Given the description of an element on the screen output the (x, y) to click on. 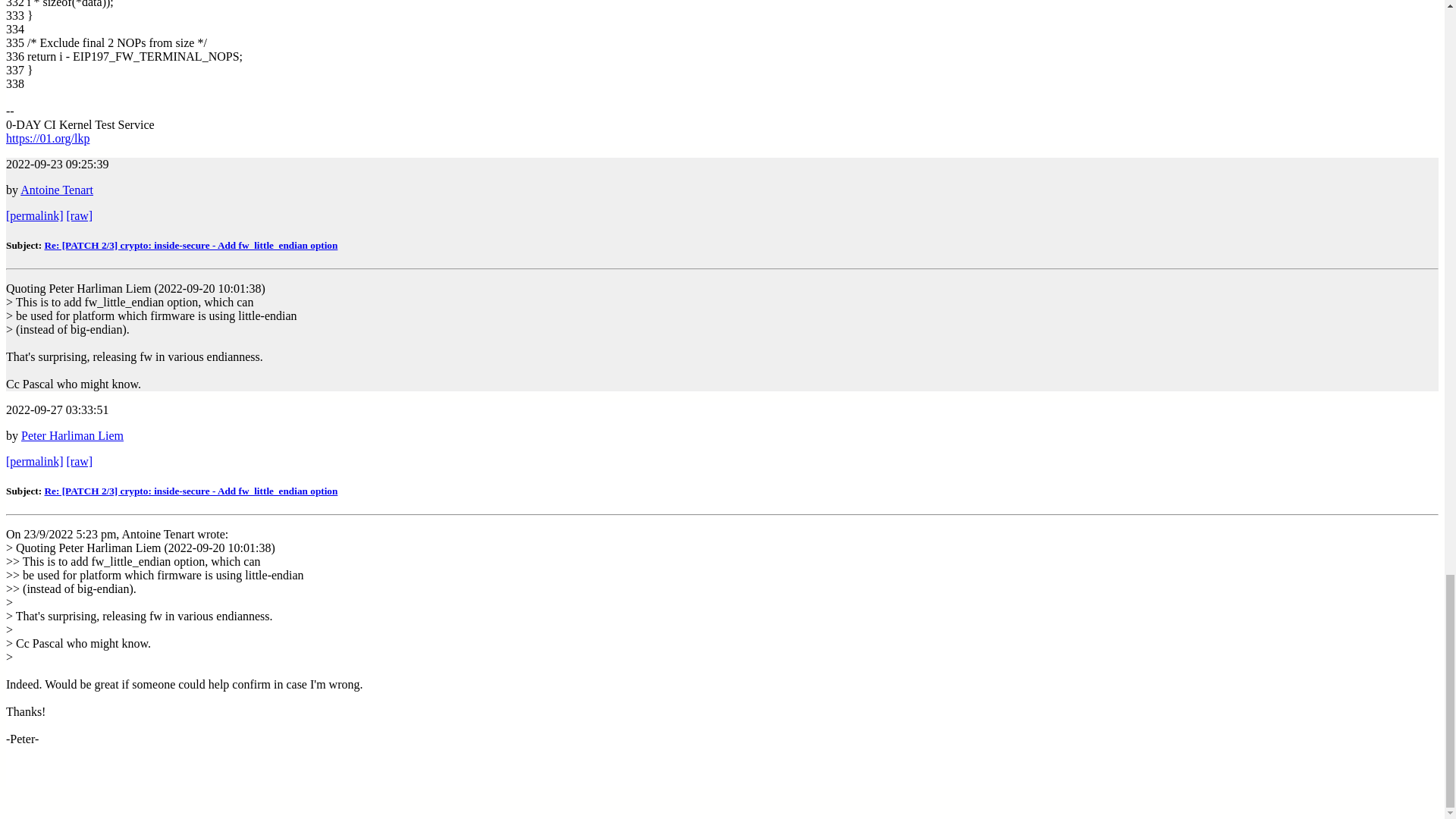
Peter Harliman Liem Element type: text (90, 29)
[permalink] Element type: text (34, 202)
[reply hierarchy] Element type: text (48, 13)
kernel test robot Element type: text (172, 29)
kernel test robot Element type: text (219, 13)
LinuxLists Element type: text (32, 43)
About Element type: text (51, 97)
linux-crypto Element type: text (66, 69)
Peter Harliman Liem Element type: text (369, 13)
Peter Harliman Liem Element type: text (322, 29)
Antoine Tenart Element type: text (242, 29)
<pliem@maxlinear.com> Element type: text (247, 329)
Peter Harliman Liem Element type: text (137, 13)
Peter Harliman Liem Element type: text (72, 176)
[raw] Element type: text (79, 202)
[time] Element type: text (24, 29)
Antoine Tenart Element type: text (289, 13)
Search Element type: text (165, 124)
Users Element type: text (49, 83)
